Given the description of an element on the screen output the (x, y) to click on. 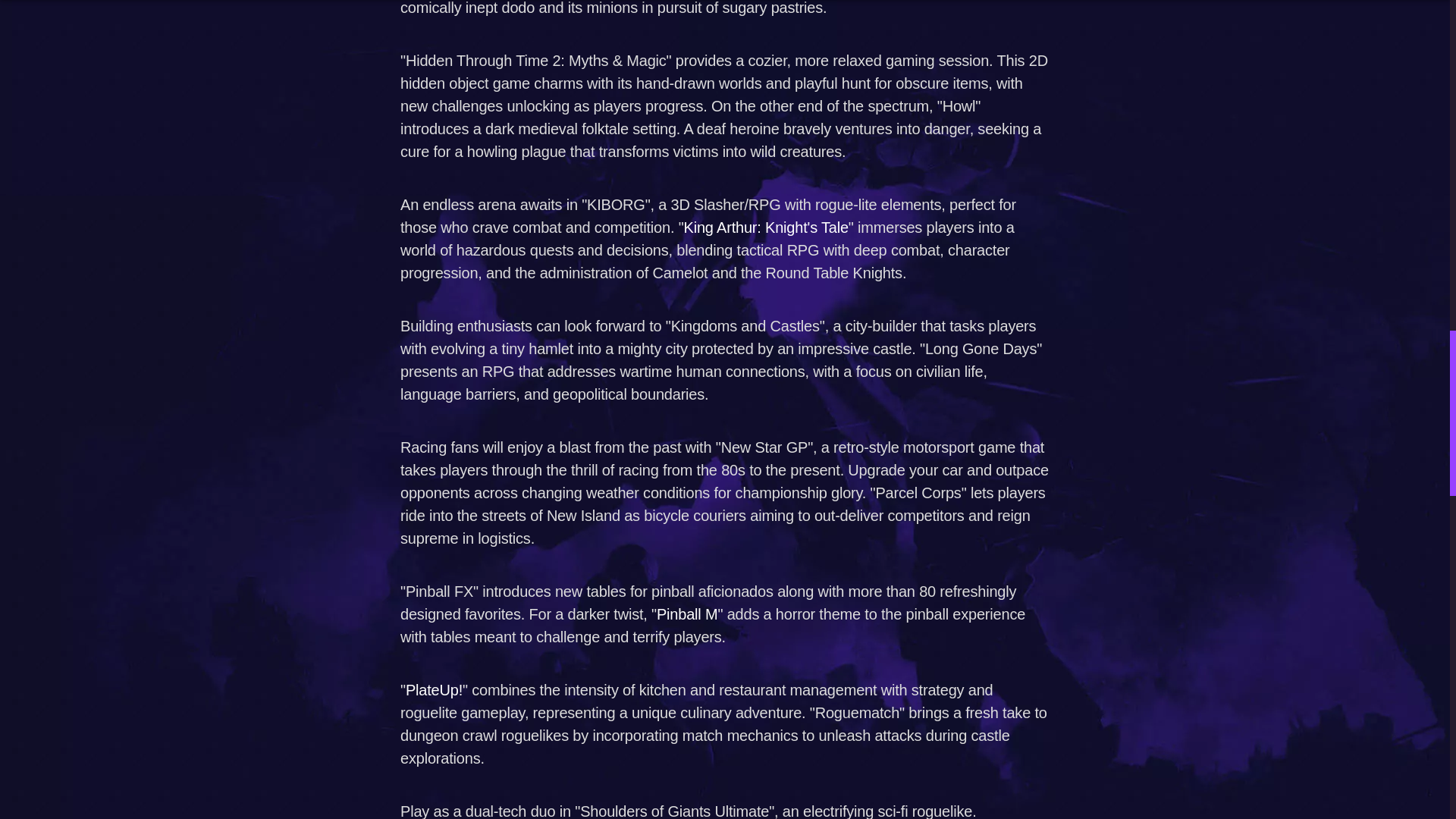
King Arthur: Knight's Tale (766, 226)
Pinball M (686, 613)
PlateUp! (434, 688)
